Given the description of an element on the screen output the (x, y) to click on. 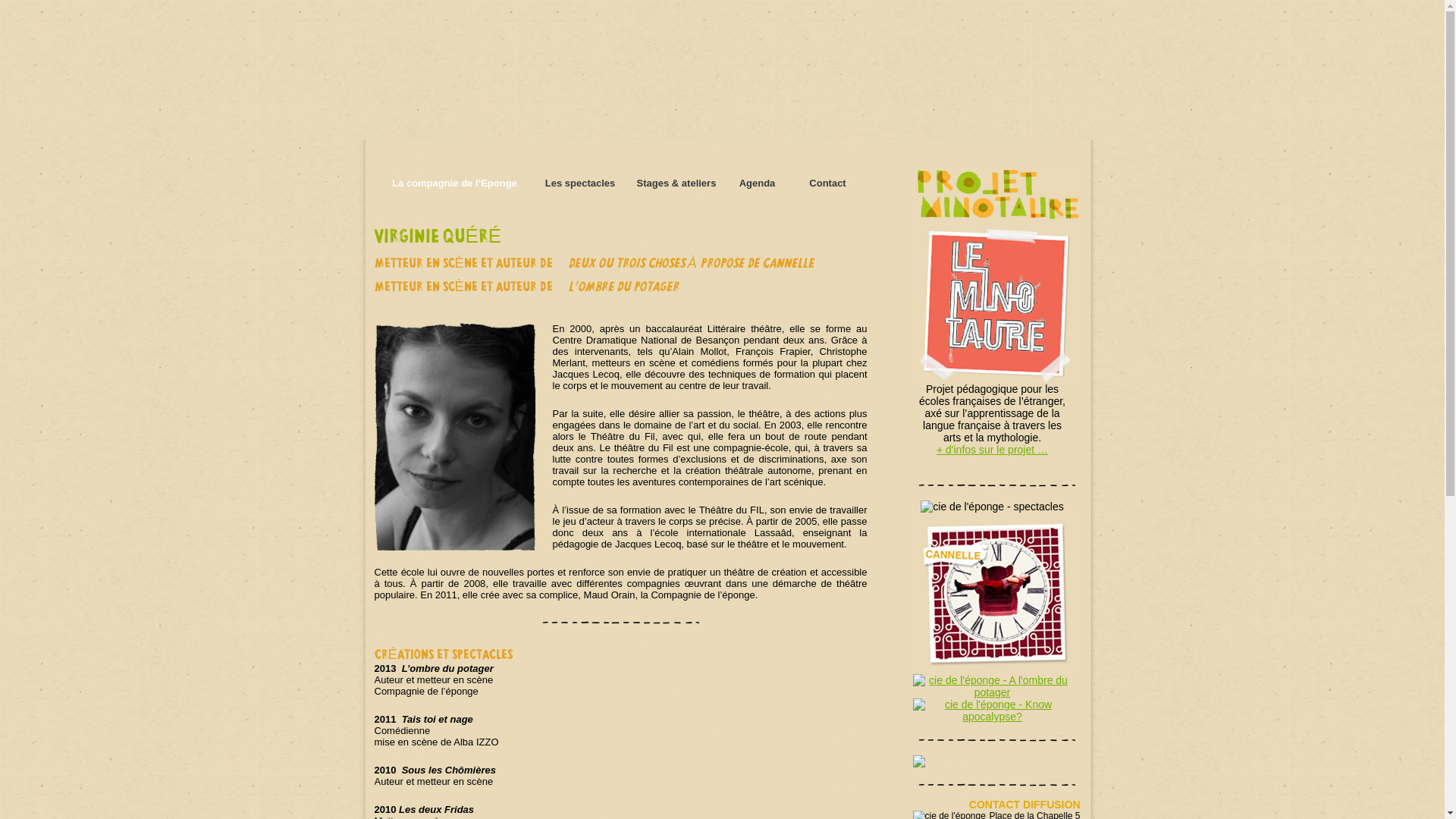
Agenda Element type: text (757, 182)
Stages & ateliers Element type: text (676, 182)
A l'ombre du potager Element type: hover (992, 686)
Know apocalypse? Element type: hover (992, 710)
Facebook Element type: hover (919, 763)
Les spectacles Element type: text (580, 182)
Contact Element type: text (827, 182)
